Given the description of an element on the screen output the (x, y) to click on. 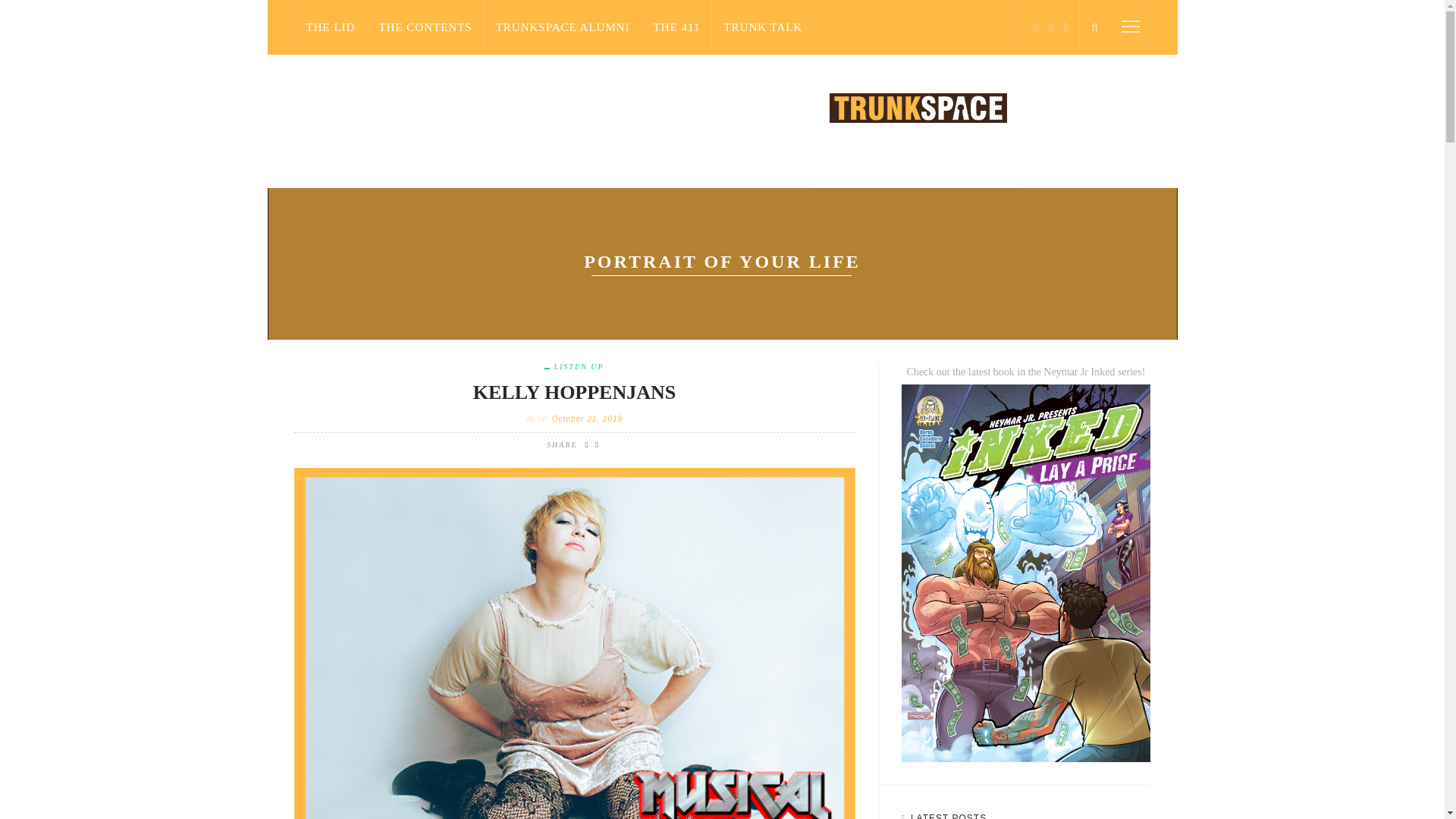
Kelly Hoppenjans (575, 392)
TrunkSpace (917, 107)
Listen Up (574, 366)
Kelly Hoppenjans (575, 667)
